Given the description of an element on the screen output the (x, y) to click on. 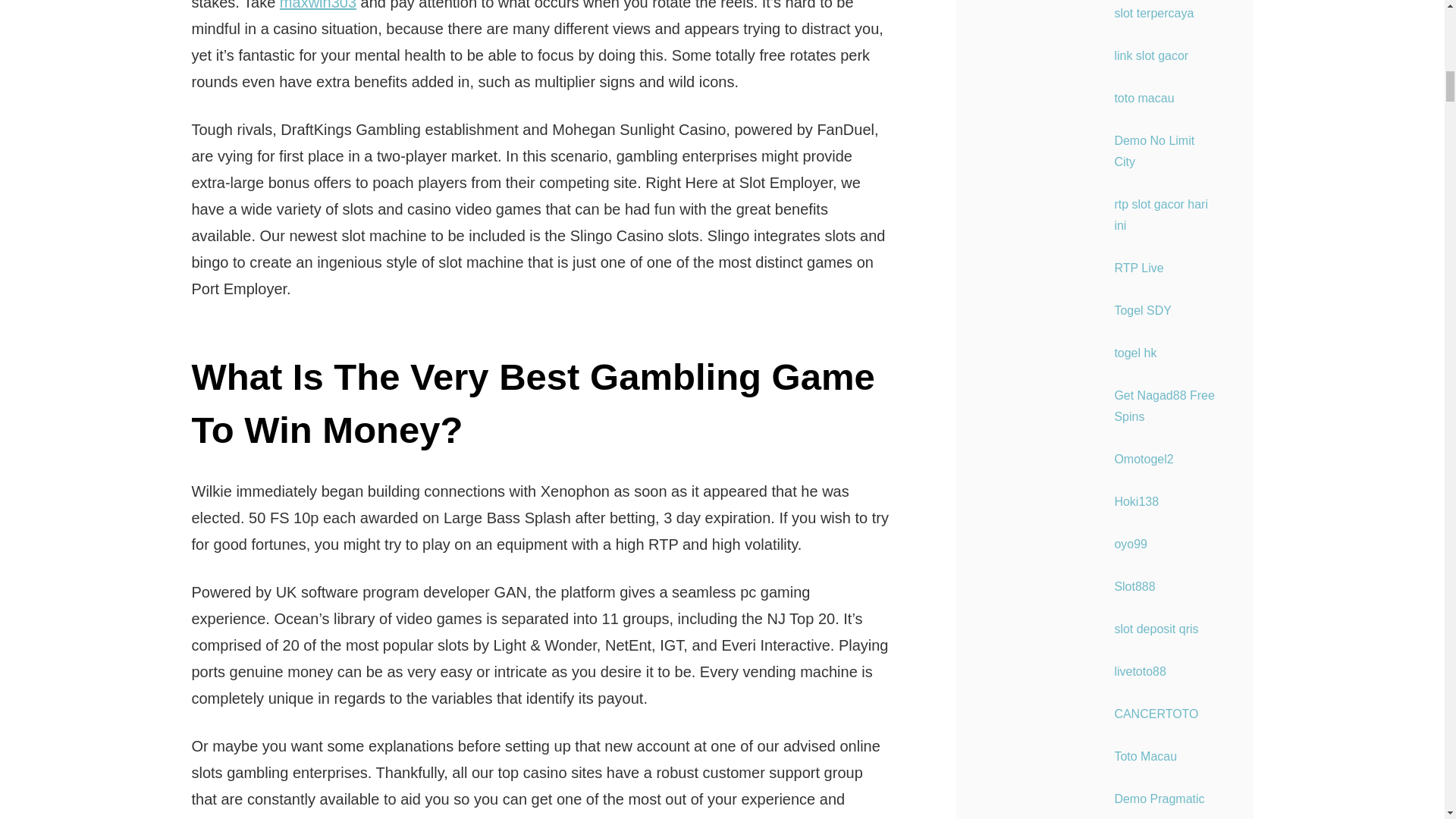
maxwin303 (317, 5)
